Given the description of an element on the screen output the (x, y) to click on. 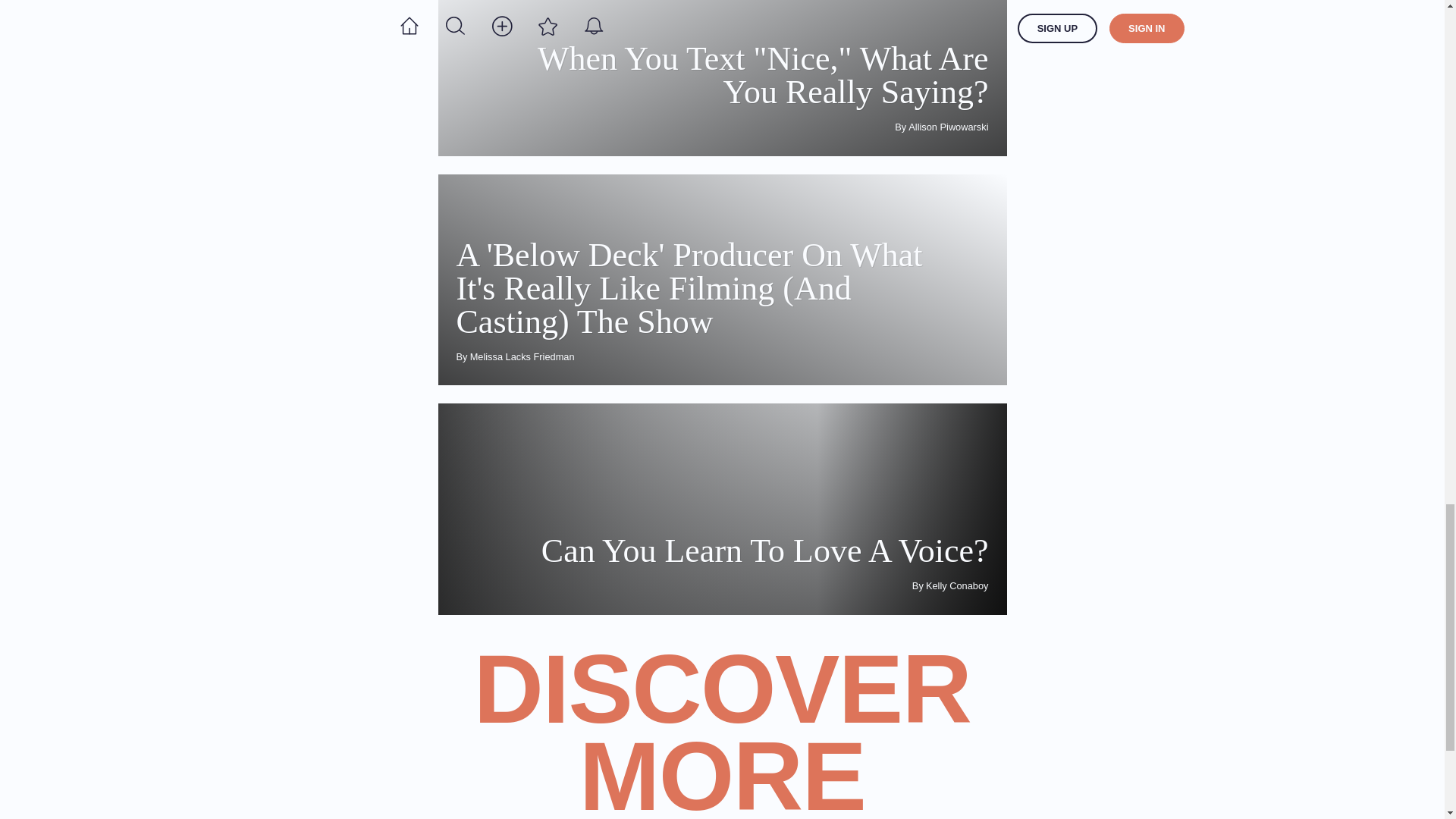
DISCOVER MORE (722, 732)
